Given the description of an element on the screen output the (x, y) to click on. 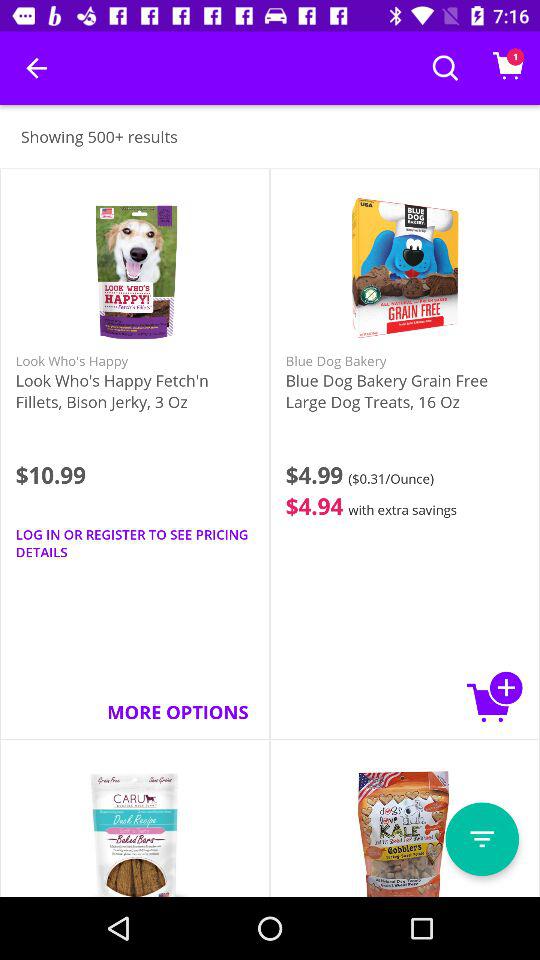
select the item to the left of the $4.94 (134, 543)
